Given the description of an element on the screen output the (x, y) to click on. 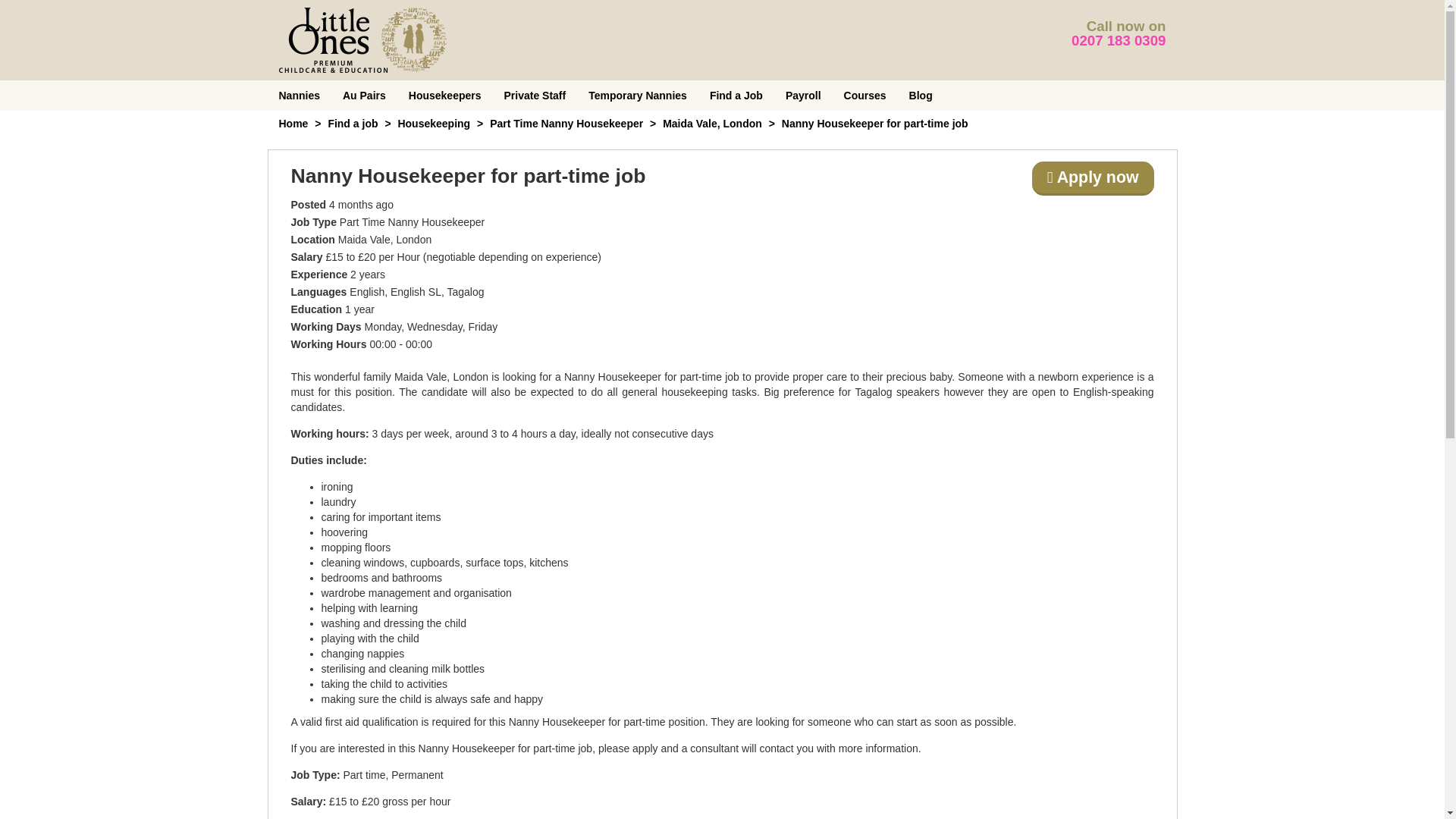
Au Pairs (364, 95)
Housekeepers (445, 95)
0207 183 0309 (1118, 40)
Nannies (298, 95)
